Given the description of an element on the screen output the (x, y) to click on. 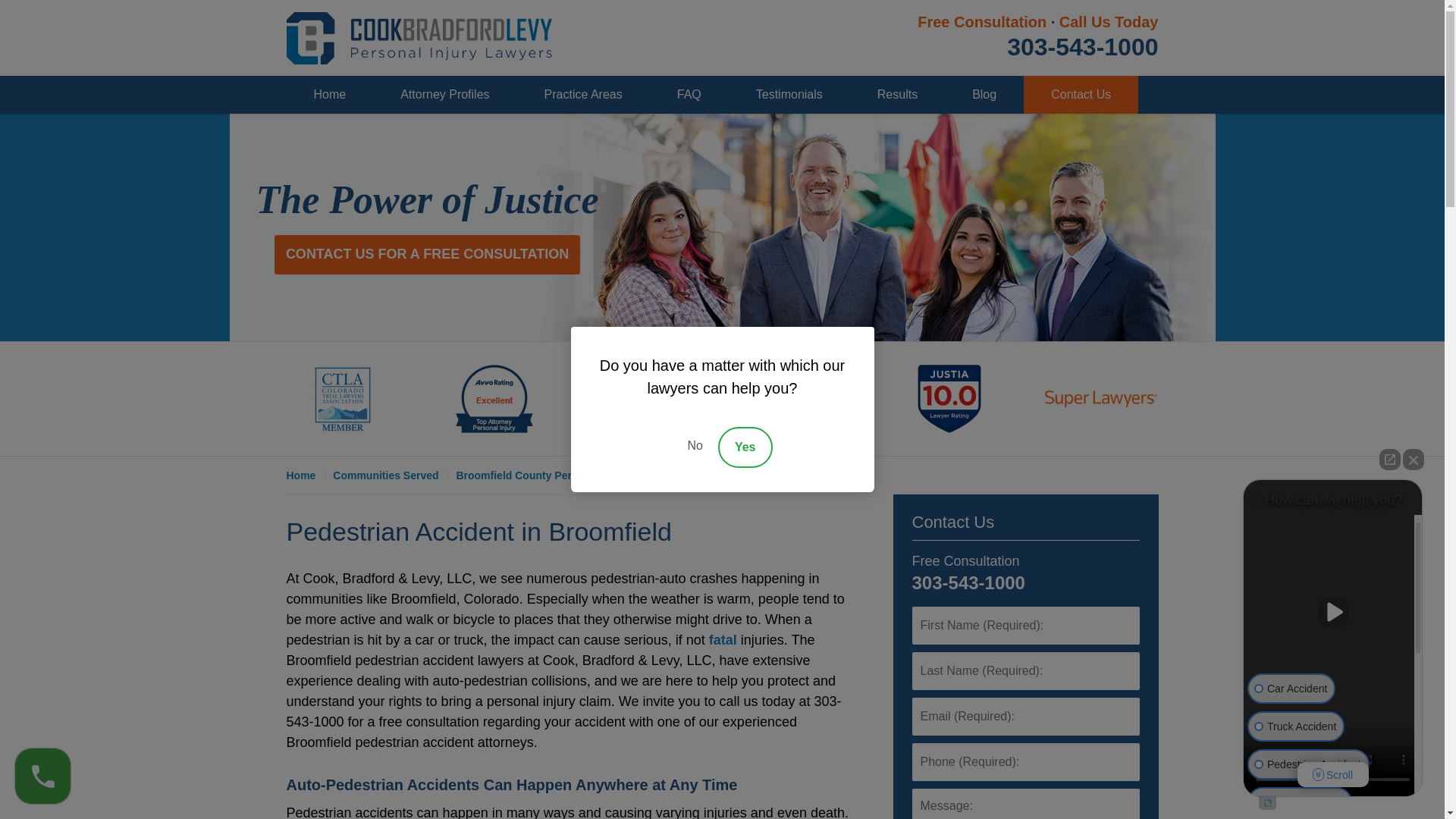
Testimonials (789, 94)
CONTACT US FOR A FREE CONSULTATION (427, 254)
Home (330, 94)
Home (309, 474)
Attorney Profiles (444, 94)
Contact Us (952, 521)
Contact Us (1080, 94)
Results (897, 94)
Communities Served (394, 474)
Practice Areas (582, 94)
fatal (722, 639)
Broomfield County Personal Injury (551, 474)
Back to Home (418, 38)
FAQ (689, 94)
Blog (983, 94)
